Given the description of an element on the screen output the (x, y) to click on. 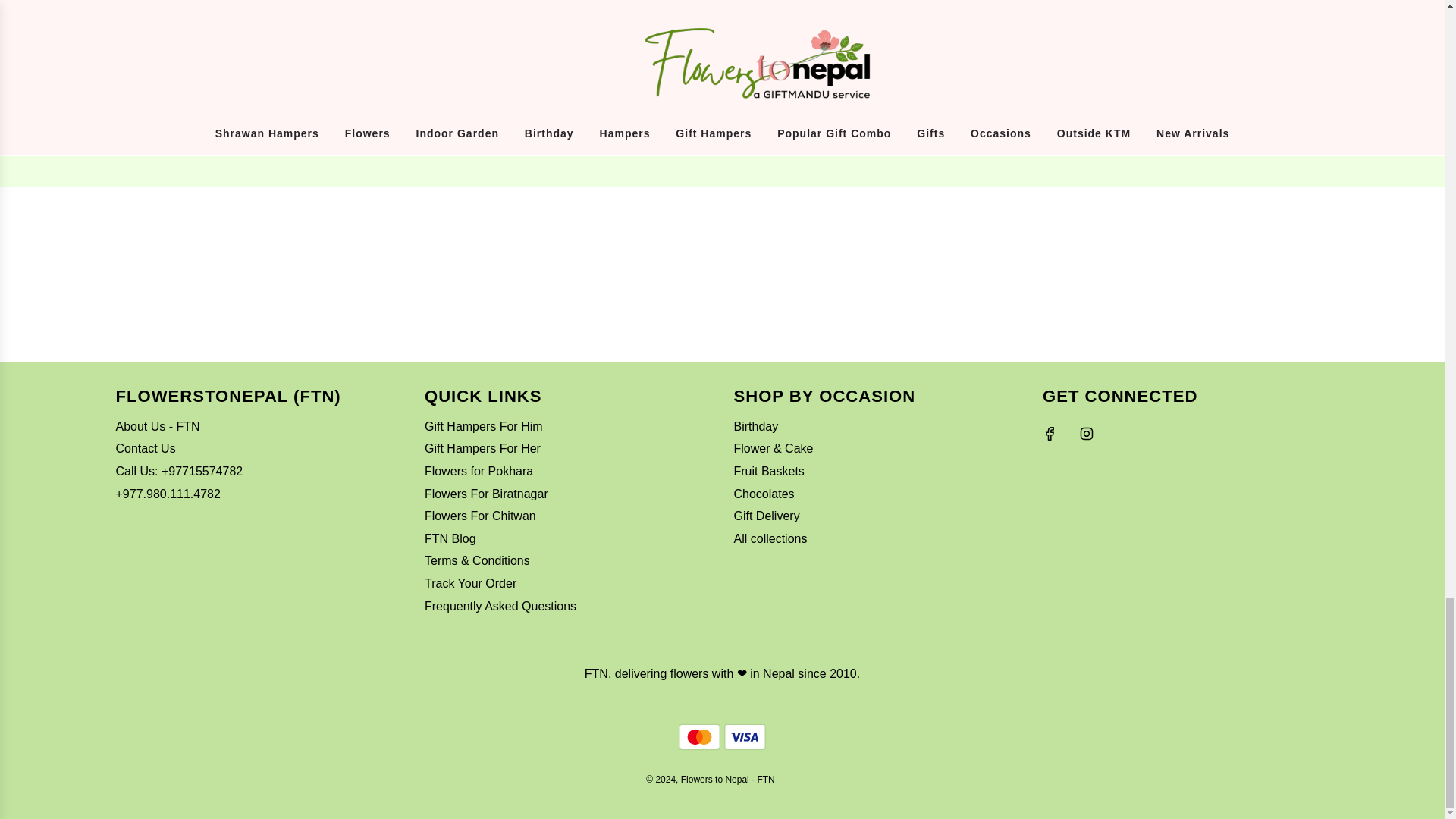
Mastercard (699, 736)
Visa (744, 736)
